Given the description of an element on the screen output the (x, y) to click on. 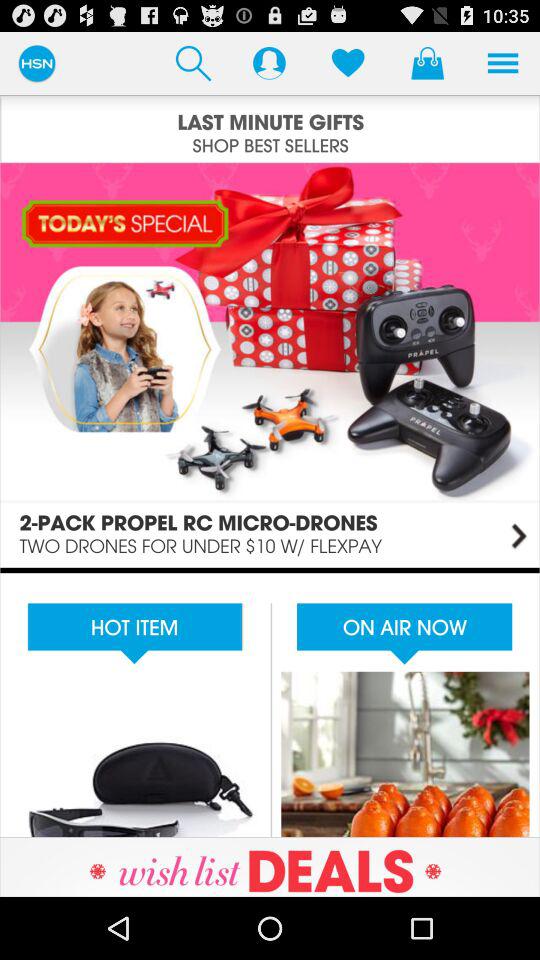
see today 's discounts (269, 364)
